Given the description of an element on the screen output the (x, y) to click on. 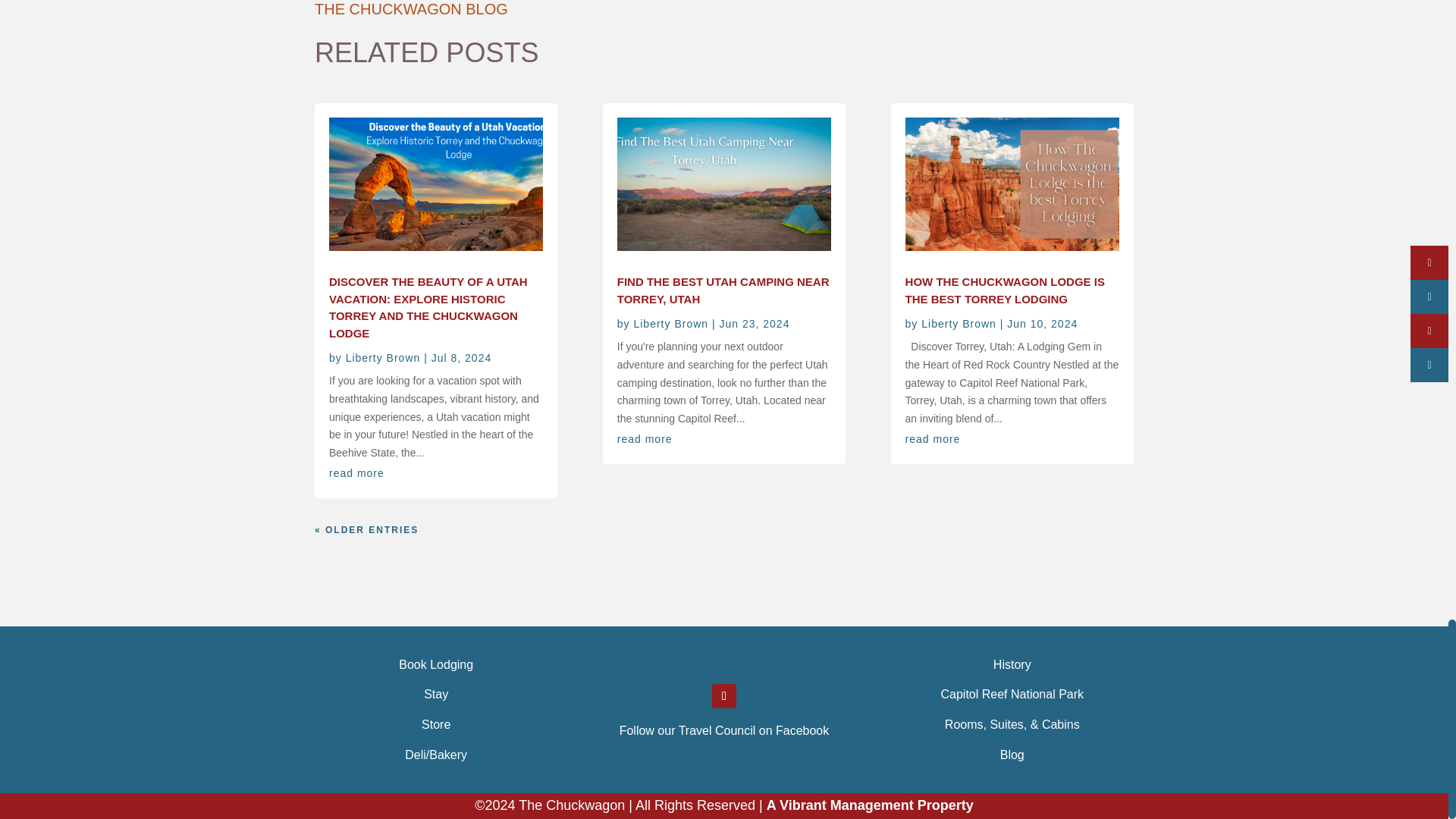
Liberty Brown (383, 357)
Posts by Liberty Brown (958, 323)
Follow on Facebook (723, 695)
Posts by Liberty Brown (383, 357)
read more (356, 472)
Vibrant Management (870, 805)
Posts by Liberty Brown (670, 323)
